Given the description of an element on the screen output the (x, y) to click on. 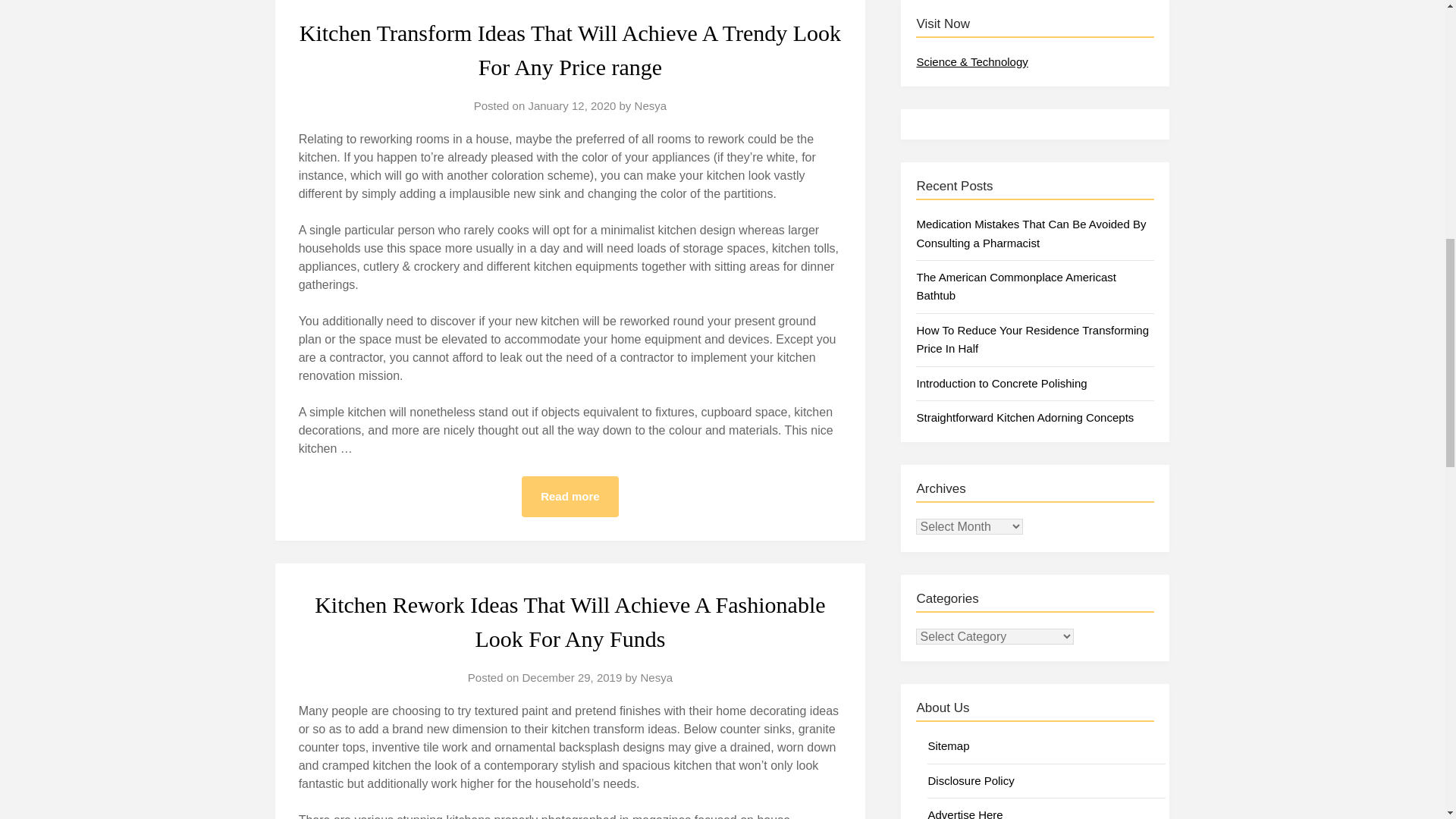
January 12, 2020 (571, 105)
Nesya (650, 105)
December 29, 2019 (572, 676)
Read more (569, 495)
